Given the description of an element on the screen output the (x, y) to click on. 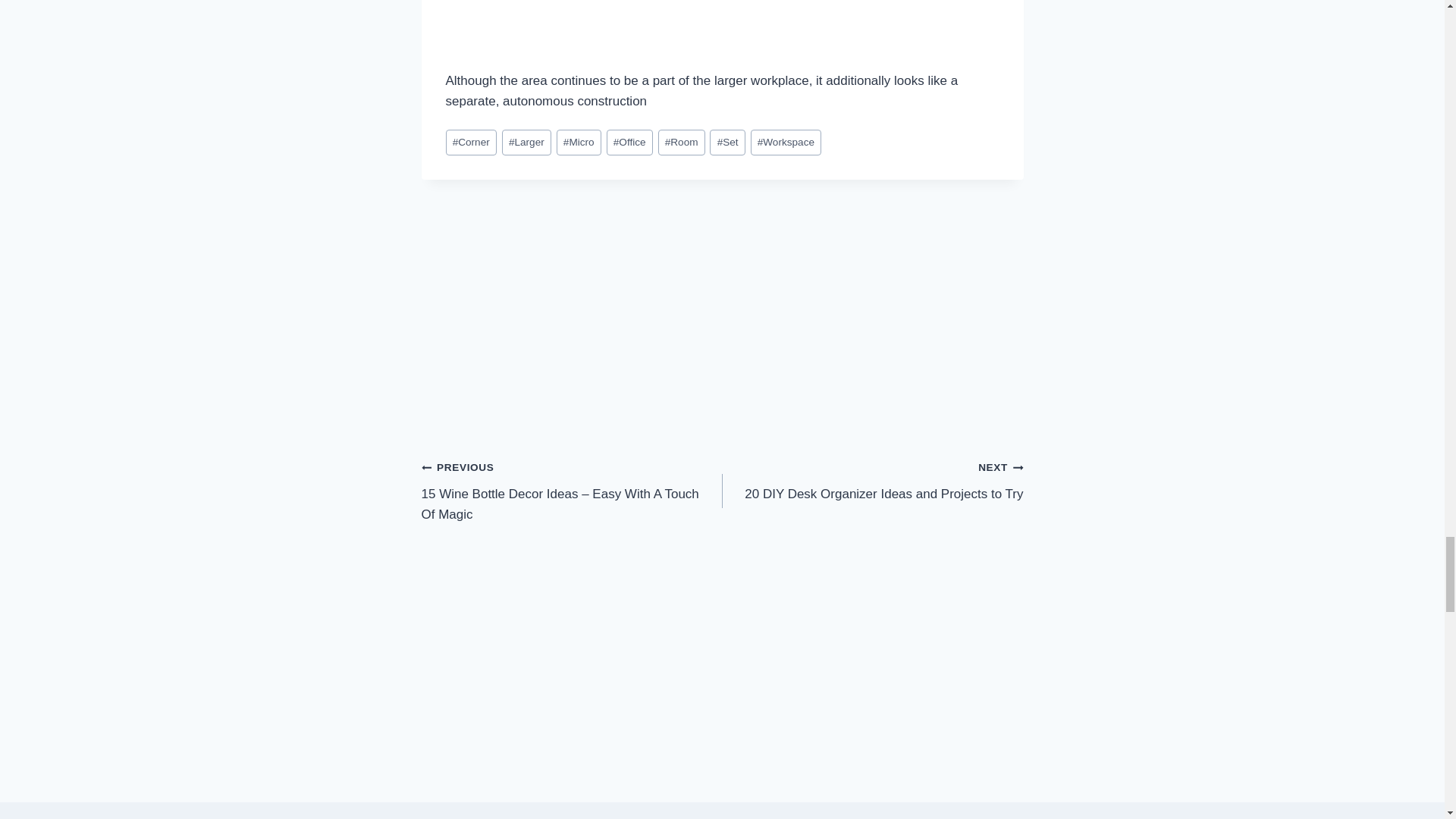
Larger (872, 480)
Office (526, 142)
Workspace (629, 142)
Room (786, 142)
Corner (681, 142)
Micro (470, 142)
Set (578, 142)
